Given the description of an element on the screen output the (x, y) to click on. 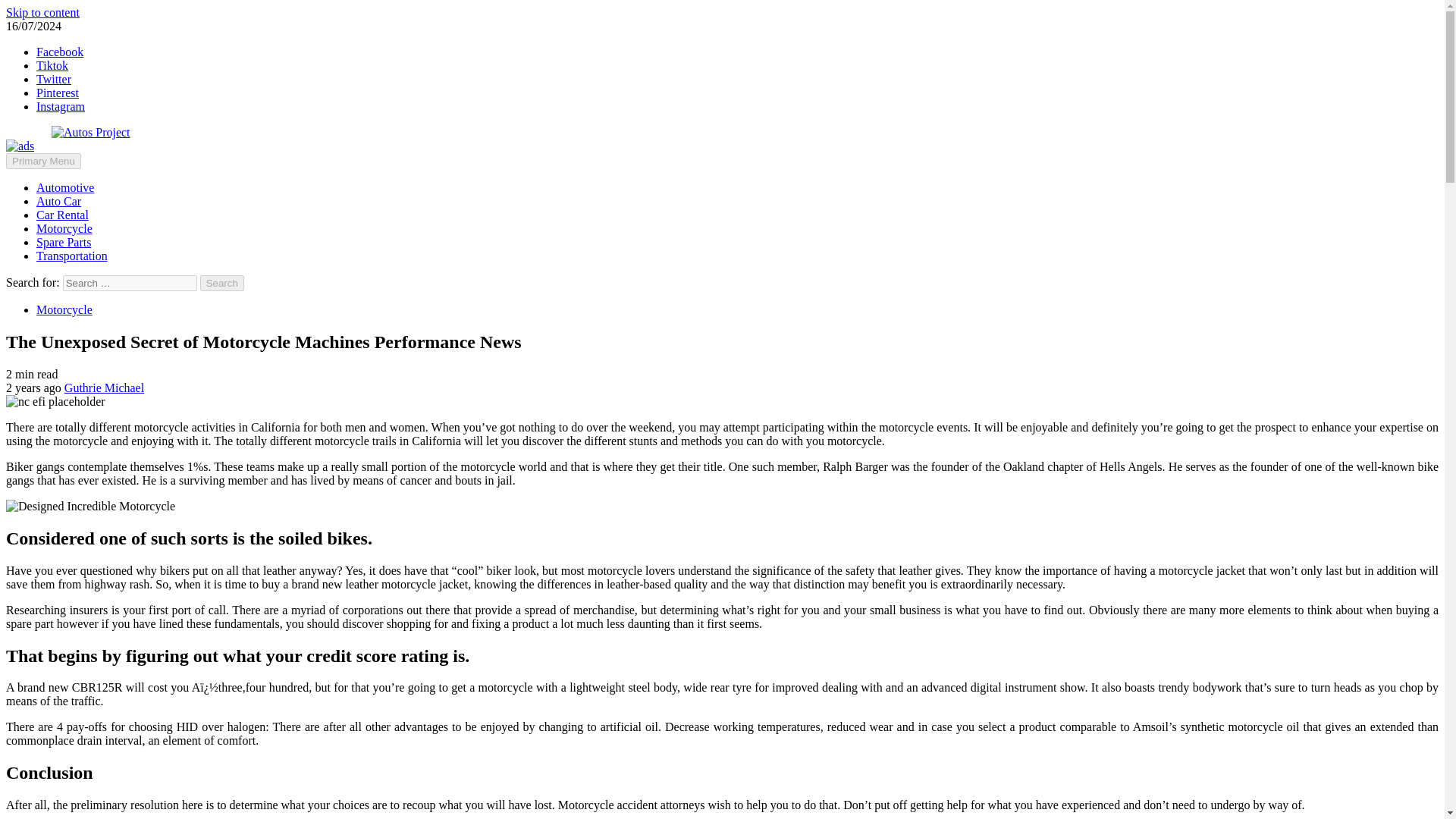
Spare Parts (63, 241)
The Unexposed Secret of Motorcycle Machines Performance News (54, 401)
Primary Menu (43, 160)
Facebook (59, 51)
Instagram (60, 106)
Pinterest (57, 92)
Search (222, 283)
Twitter (53, 78)
Car Rental (62, 214)
The Unexposed Secret of Motorcycle Machines Performance News (89, 506)
Motorcycle (64, 309)
Motorcycle (64, 228)
Transportation (71, 255)
Tiktok (52, 65)
Search (222, 283)
